Given the description of an element on the screen output the (x, y) to click on. 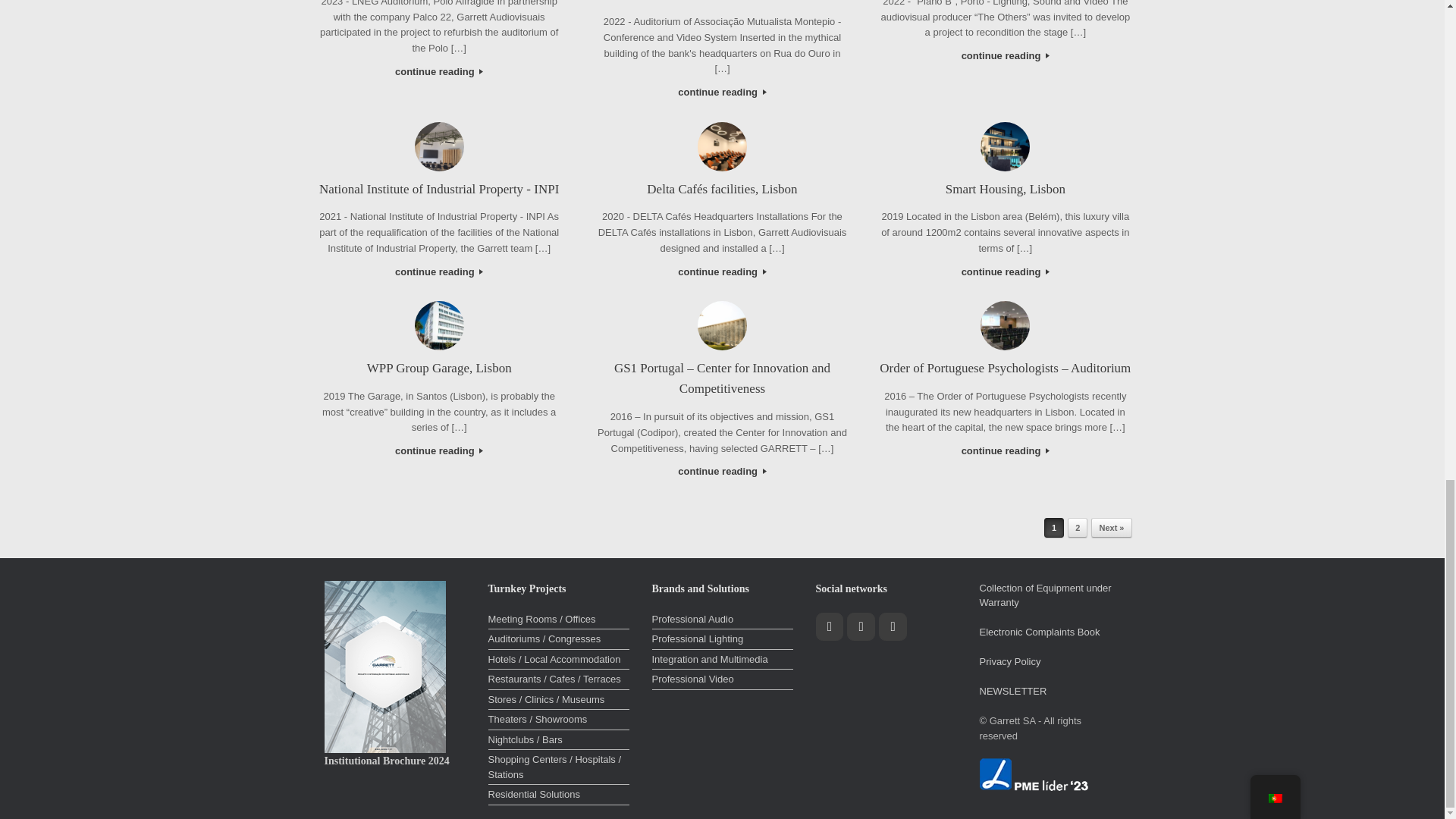
Garrett Audiovisuais on Facebook (829, 626)
Garrett Audiovisuais on Instagram (861, 626)
Garrett Audiovisuais on Linkedin (893, 626)
